Given the description of an element on the screen output the (x, y) to click on. 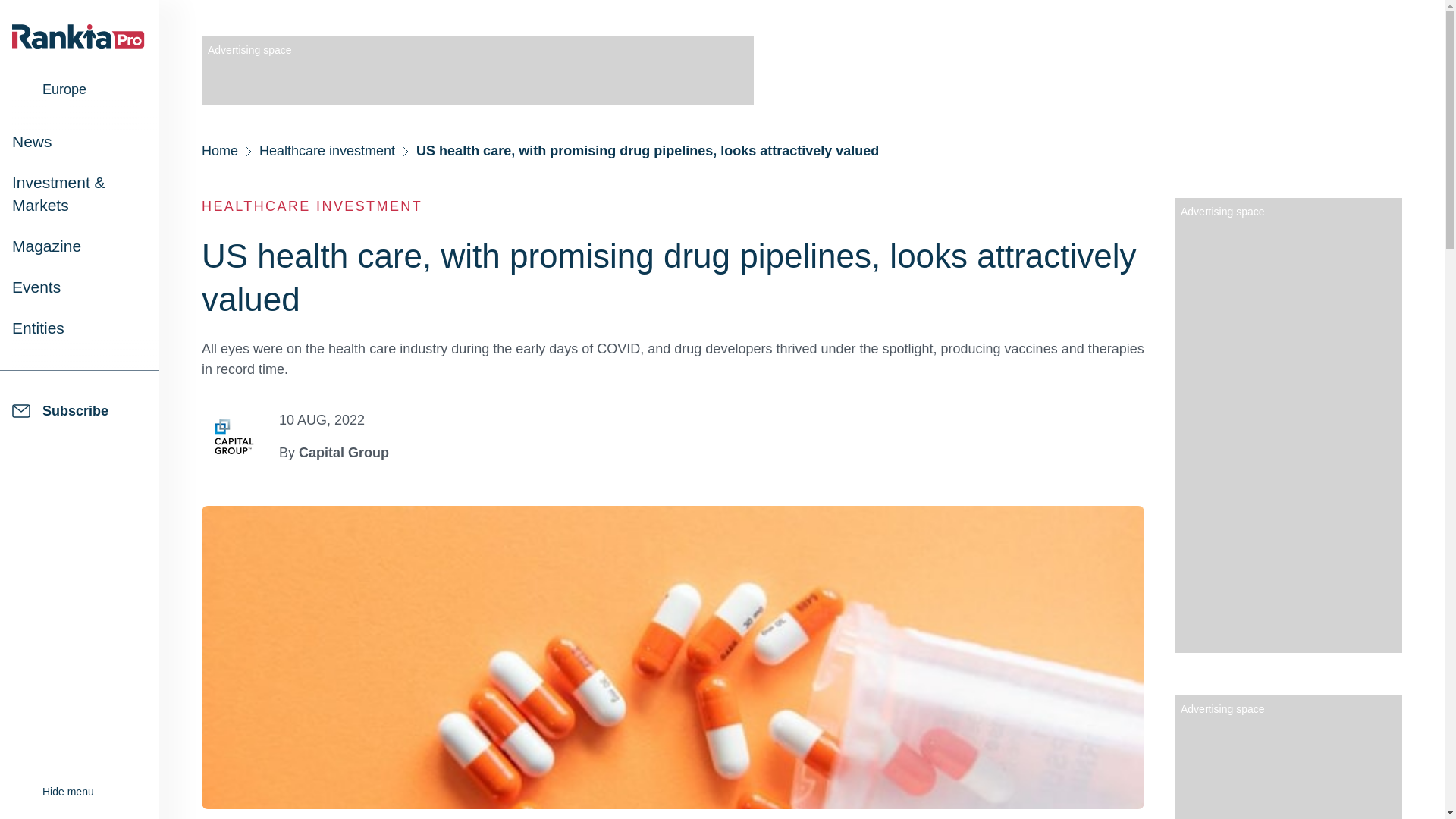
Subscribe (84, 411)
News (31, 140)
Home (220, 150)
Hide menu (52, 791)
Healthcare investment (326, 150)
Capital Group (343, 452)
HEALTHCARE INVESTMENT (312, 206)
Events (36, 286)
Europe (61, 89)
Magazine (46, 245)
Entities (37, 327)
